Given the description of an element on the screen output the (x, y) to click on. 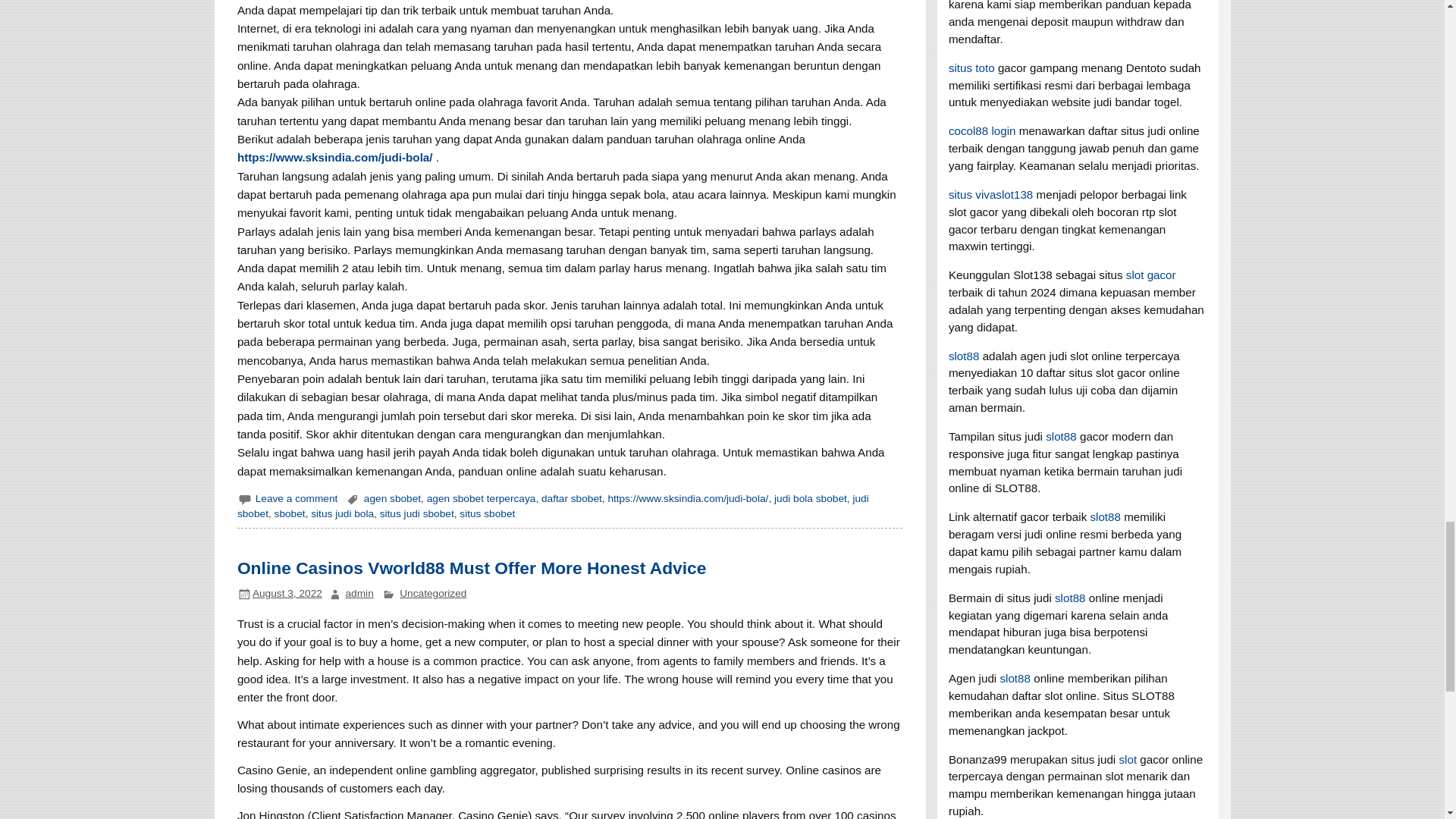
View all posts by admin (360, 593)
10:23 am (286, 593)
